Given the description of an element on the screen output the (x, y) to click on. 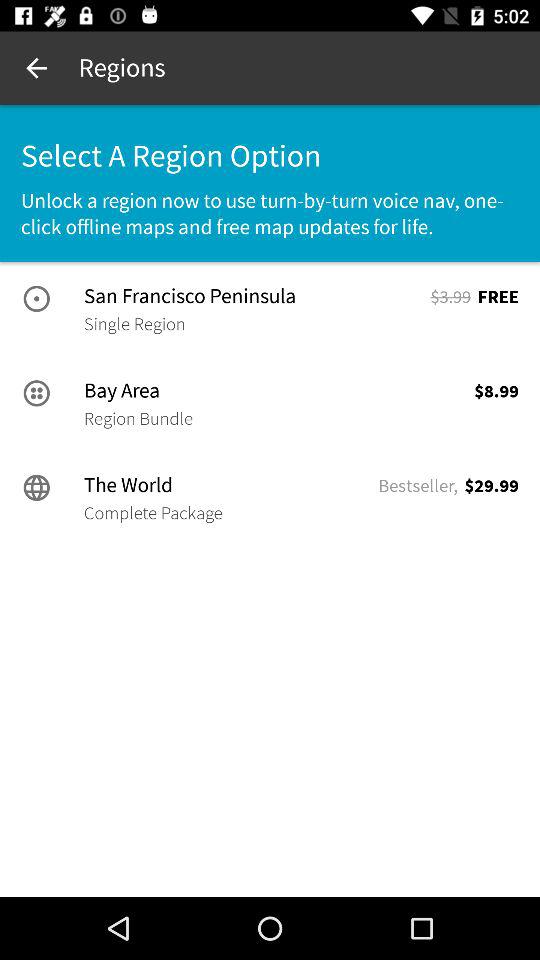
tap the complete package (153, 513)
